Given the description of an element on the screen output the (x, y) to click on. 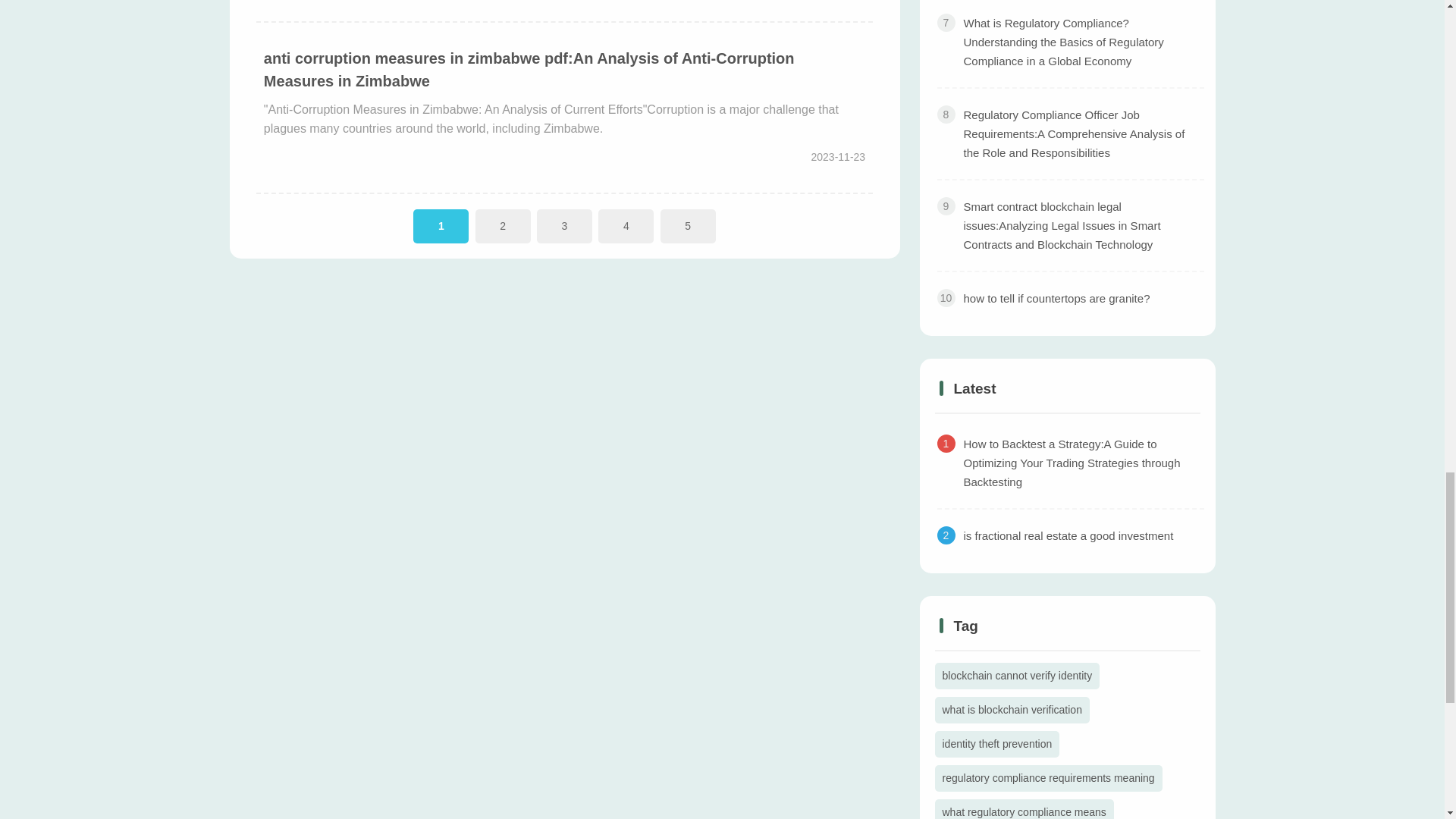
3 (564, 226)
4 (625, 226)
5 (688, 226)
2 (503, 226)
1 (440, 226)
